Given the description of an element on the screen output the (x, y) to click on. 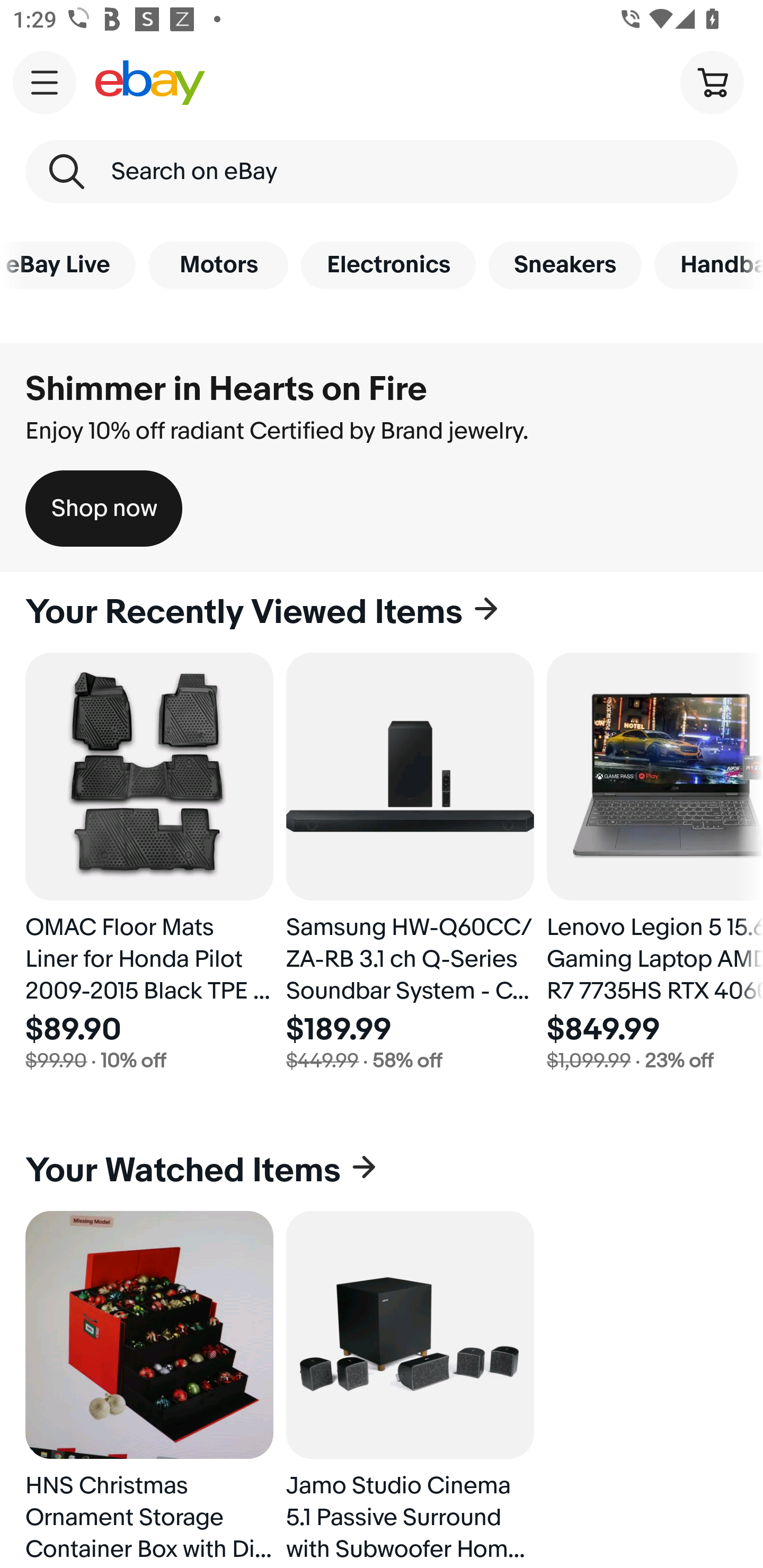
Main navigation, open (44, 82)
Cart button shopping cart (711, 81)
Search on eBay Search Keyword Search on eBay (381, 171)
eBay Live (67, 264)
Motors (218, 264)
Electronics (388, 264)
Sneakers (564, 264)
Shimmer in Hearts on Fire (226, 389)
Shop now (103, 508)
Your Recently Viewed Items   (381, 612)
Your Watched Items   (381, 1170)
